Given the description of an element on the screen output the (x, y) to click on. 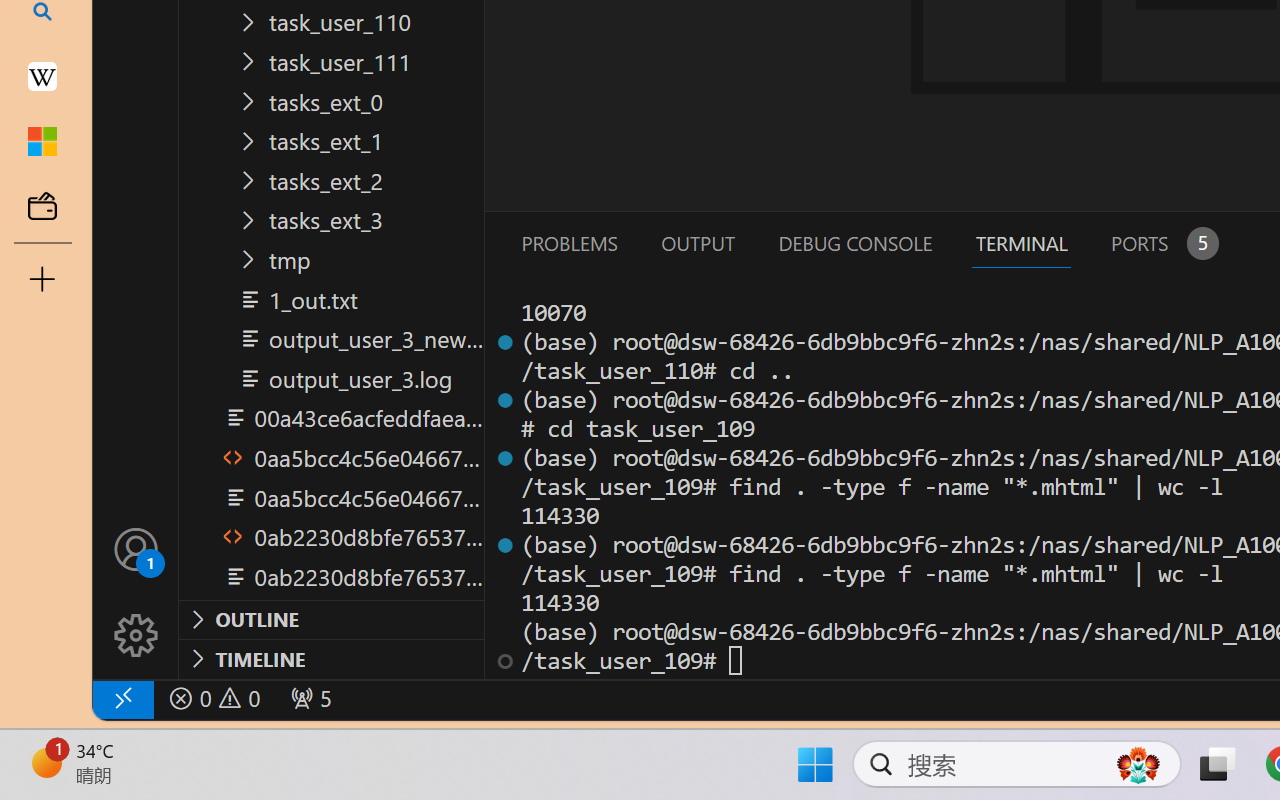
Output (Ctrl+Shift+U) (696, 243)
Problems (Ctrl+Shift+M) (567, 243)
Ports - 5 forwarded ports (1162, 243)
Forwarded Ports: 36301, 47065, 38781, 45817, 50331 (308, 698)
Outline Section (331, 619)
remote (122, 698)
Terminal (Ctrl+`) (1021, 243)
Earth - Wikipedia (42, 75)
Manage (135, 591)
